Given the description of an element on the screen output the (x, y) to click on. 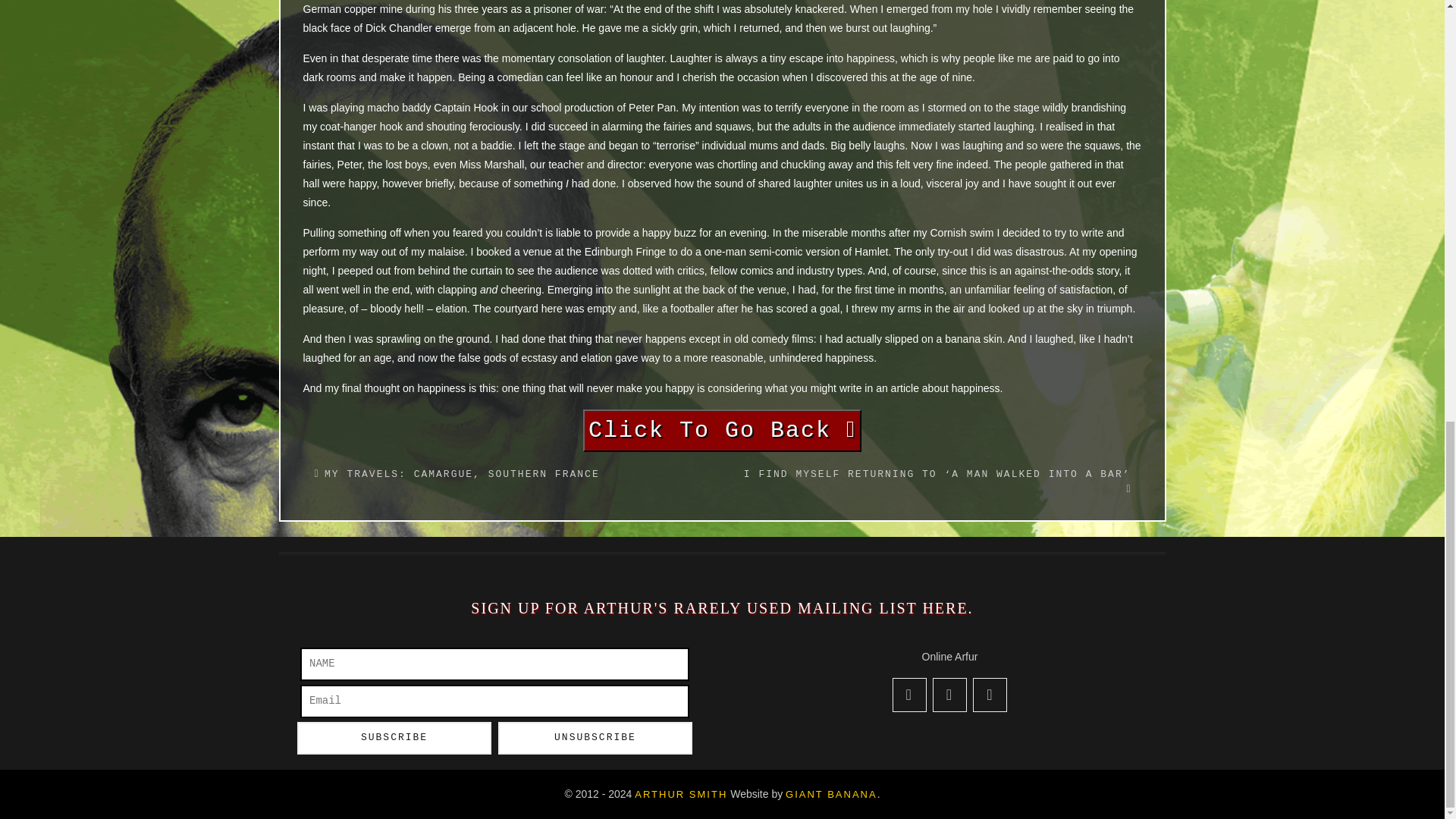
ARTHUR SMITH (680, 794)
Subscribe (394, 737)
Click To Go Back (722, 433)
MY TRAVELS: CAMARGUE, SOUTHERN FRANCE (461, 473)
GIANT BANANA (831, 794)
Unsubscribe (595, 737)
Click To Go Back (722, 430)
Subscribe (394, 737)
Unsubscribe (595, 737)
